Given the description of an element on the screen output the (x, y) to click on. 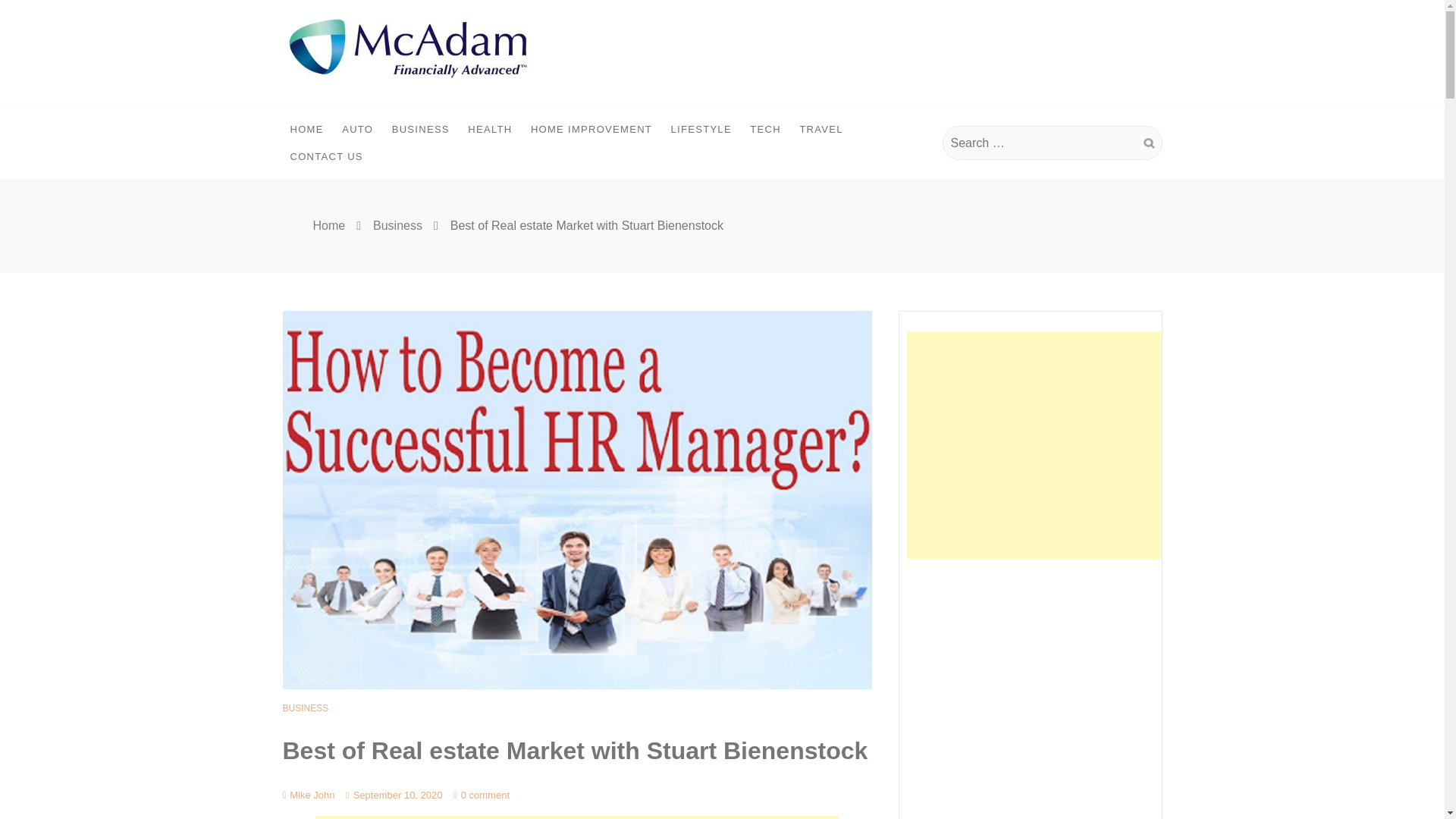
Search (1148, 143)
September 10, 2020 (394, 794)
BUSINESS (420, 129)
HOME IMPROVEMENT (590, 129)
CONTACT US (325, 156)
BUSINESS (305, 707)
LIFESTYLE (701, 129)
0 comment (480, 794)
TECH (765, 129)
Search (1148, 143)
Home (329, 225)
HEALTH (489, 129)
TRAVEL (821, 129)
HOME (306, 129)
Mike John (308, 794)
